Given the description of an element on the screen output the (x, y) to click on. 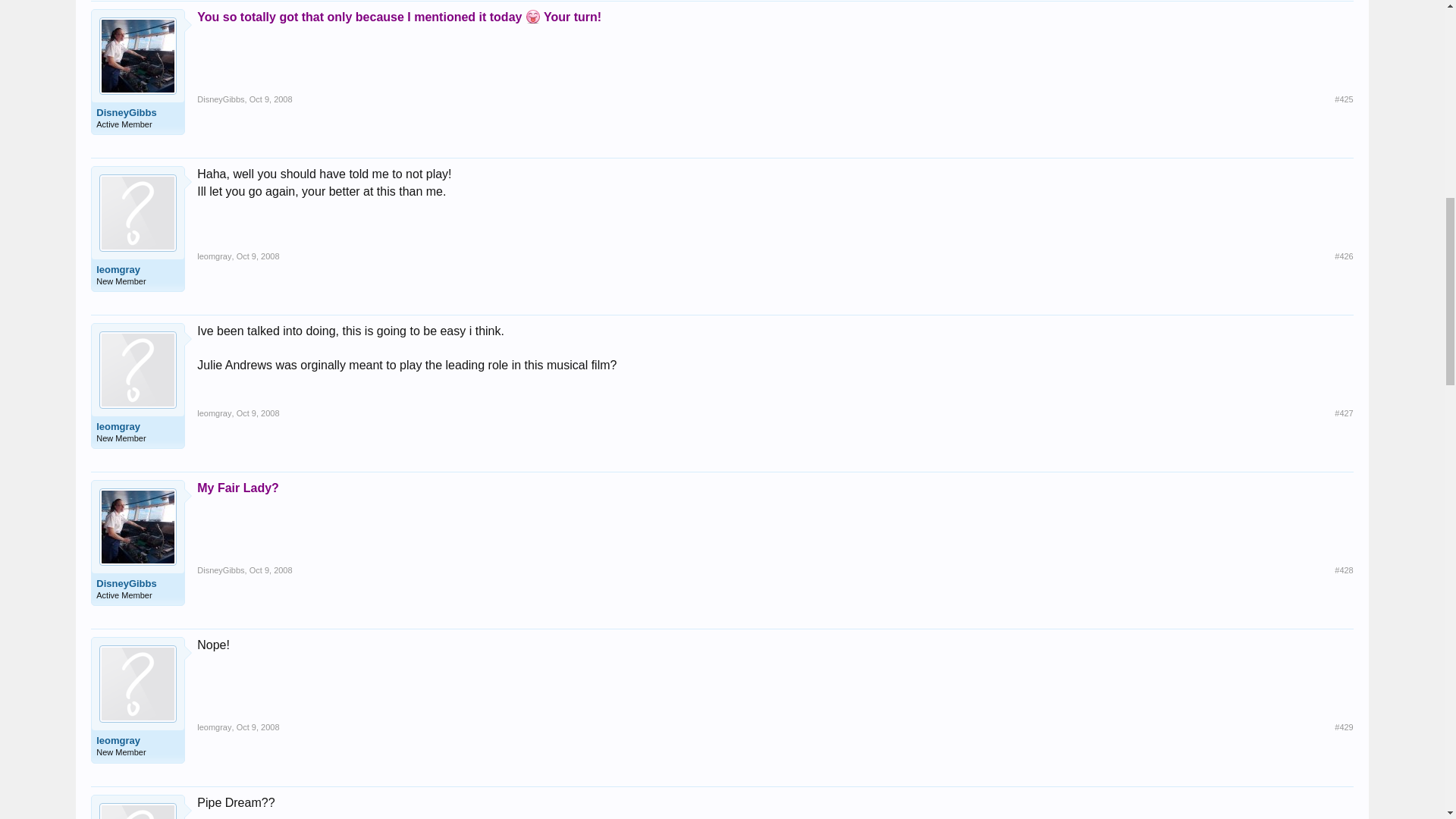
Permalink (257, 256)
Permalink (270, 99)
Permalink (1343, 99)
Stick Out Tongue    :p (532, 16)
